Given the description of an element on the screen output the (x, y) to click on. 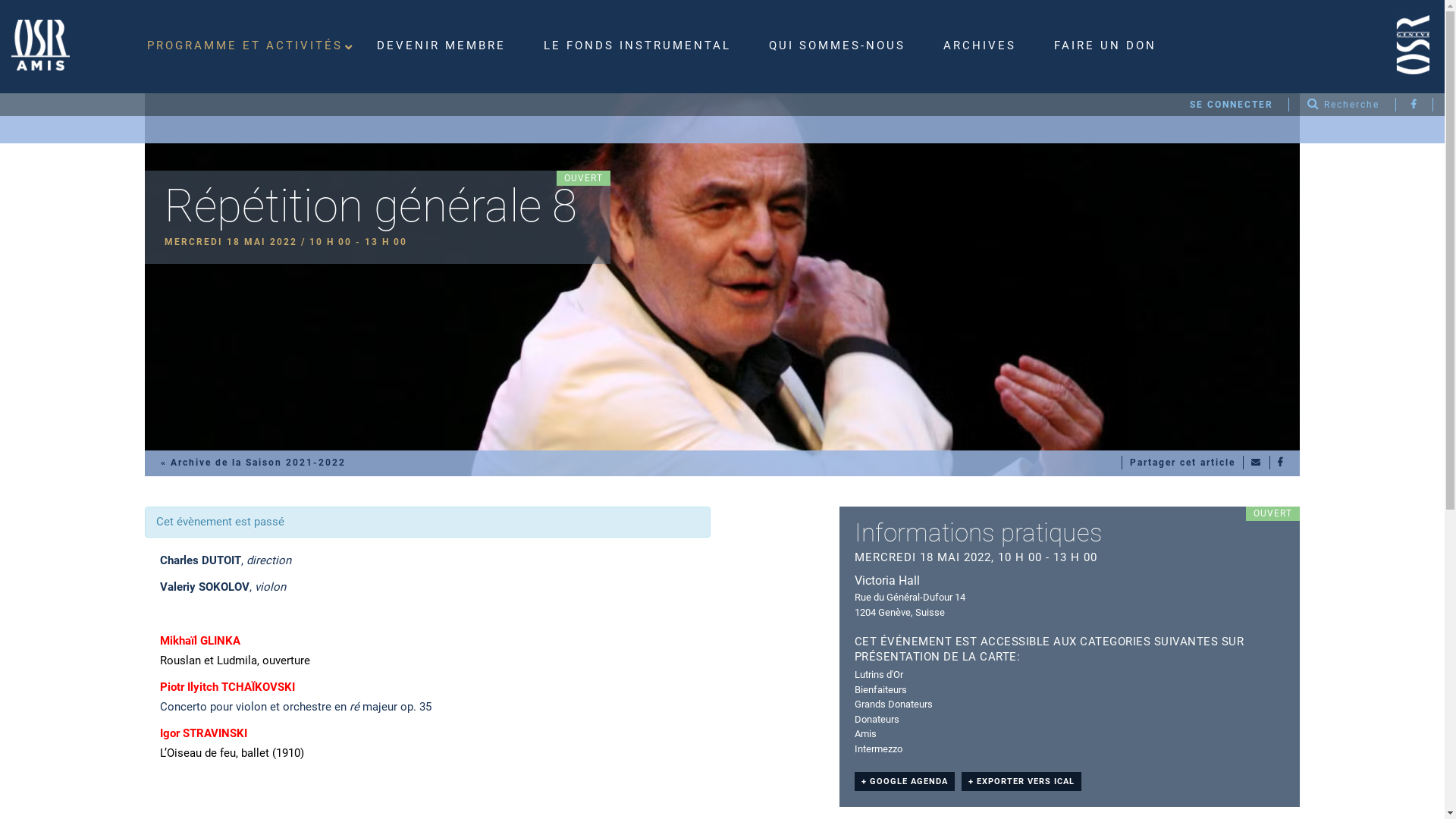
+ EXPORTER VERS ICAL Element type: text (1021, 780)
QUI SOMMES-NOUS Element type: text (840, 46)
SE CONNECTER Element type: text (1231, 104)
ARCHIVES Element type: text (983, 46)
LE FONDS INSTRUMENTAL Element type: text (640, 46)
FAIRE UN DON Element type: text (1108, 46)
DEVENIR MEMBRE Element type: text (444, 46)
+ GOOGLE AGENDA Element type: text (904, 780)
